Given the description of an element on the screen output the (x, y) to click on. 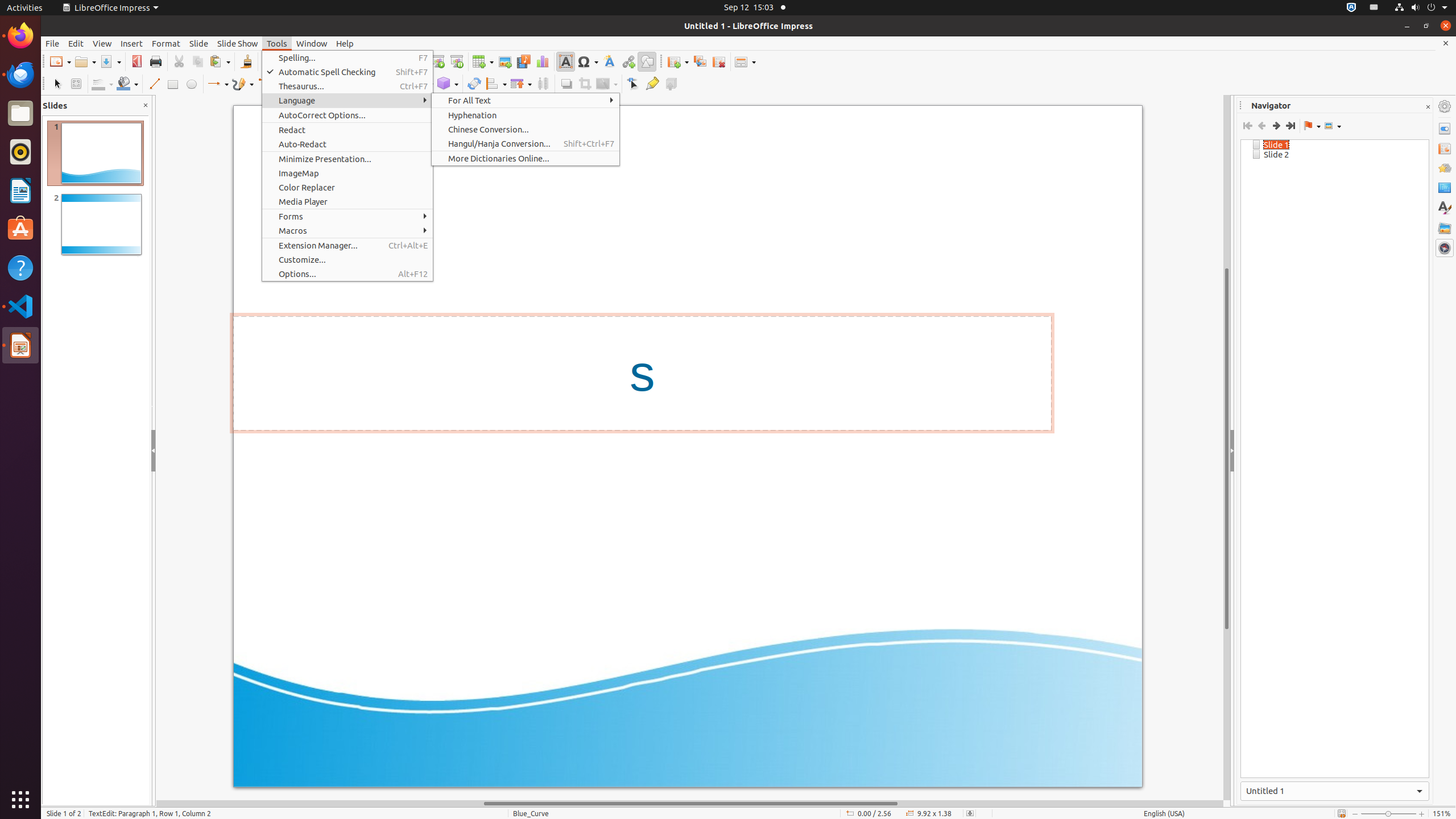
:1.21/StatusNotifierItem Element type: menu (1373, 7)
Styles Element type: radio-button (1444, 208)
Drag Mode Element type: push-button (1311, 125)
Zoom & Pan Element type: push-button (75, 83)
